Given the description of an element on the screen output the (x, y) to click on. 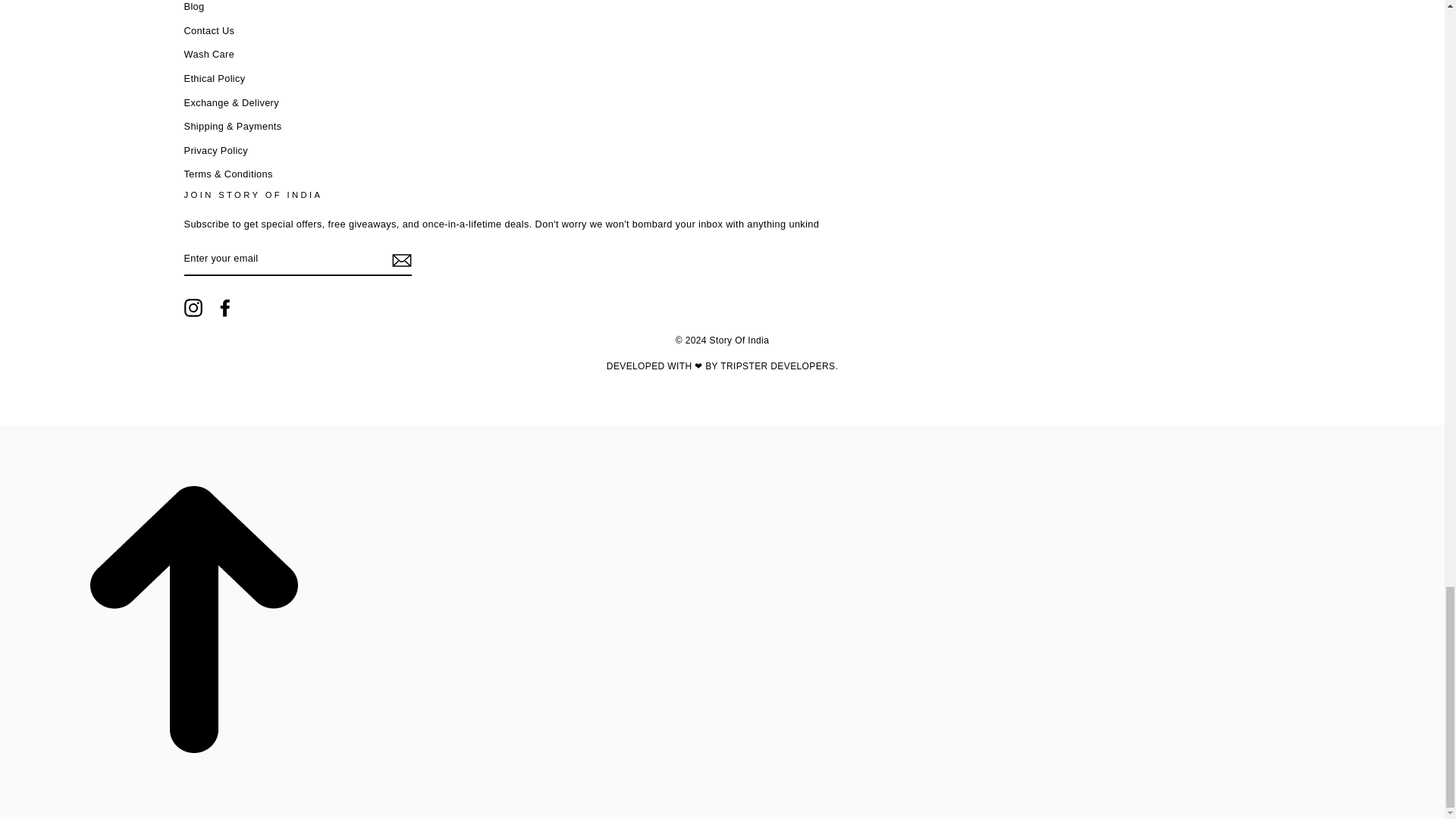
Back to the top (194, 809)
Story Of India on Facebook (224, 307)
Story Of India on Instagram (192, 307)
